Given the description of an element on the screen output the (x, y) to click on. 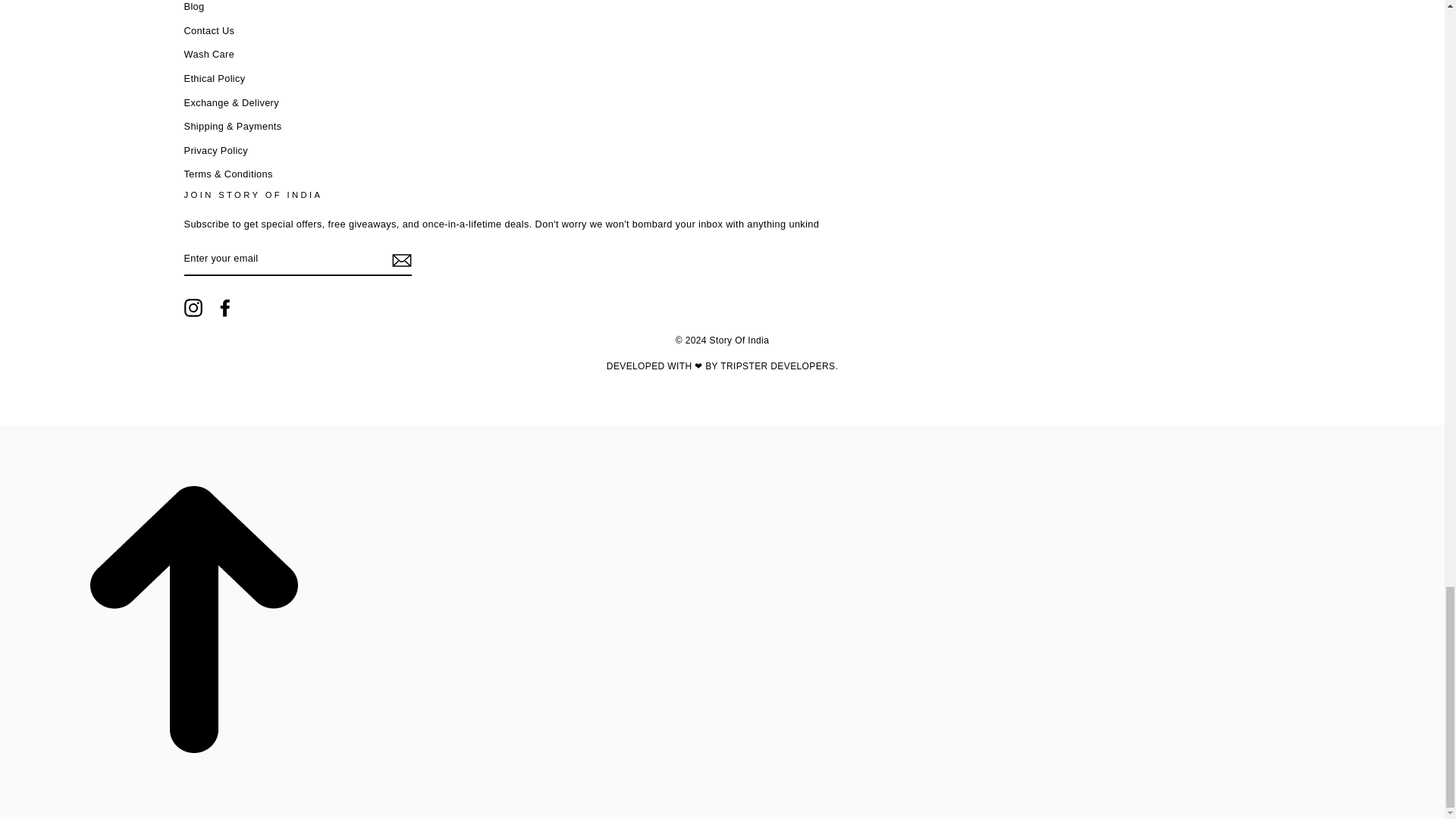
Back to the top (194, 809)
Story Of India on Facebook (224, 307)
Story Of India on Instagram (192, 307)
